Given the description of an element on the screen output the (x, y) to click on. 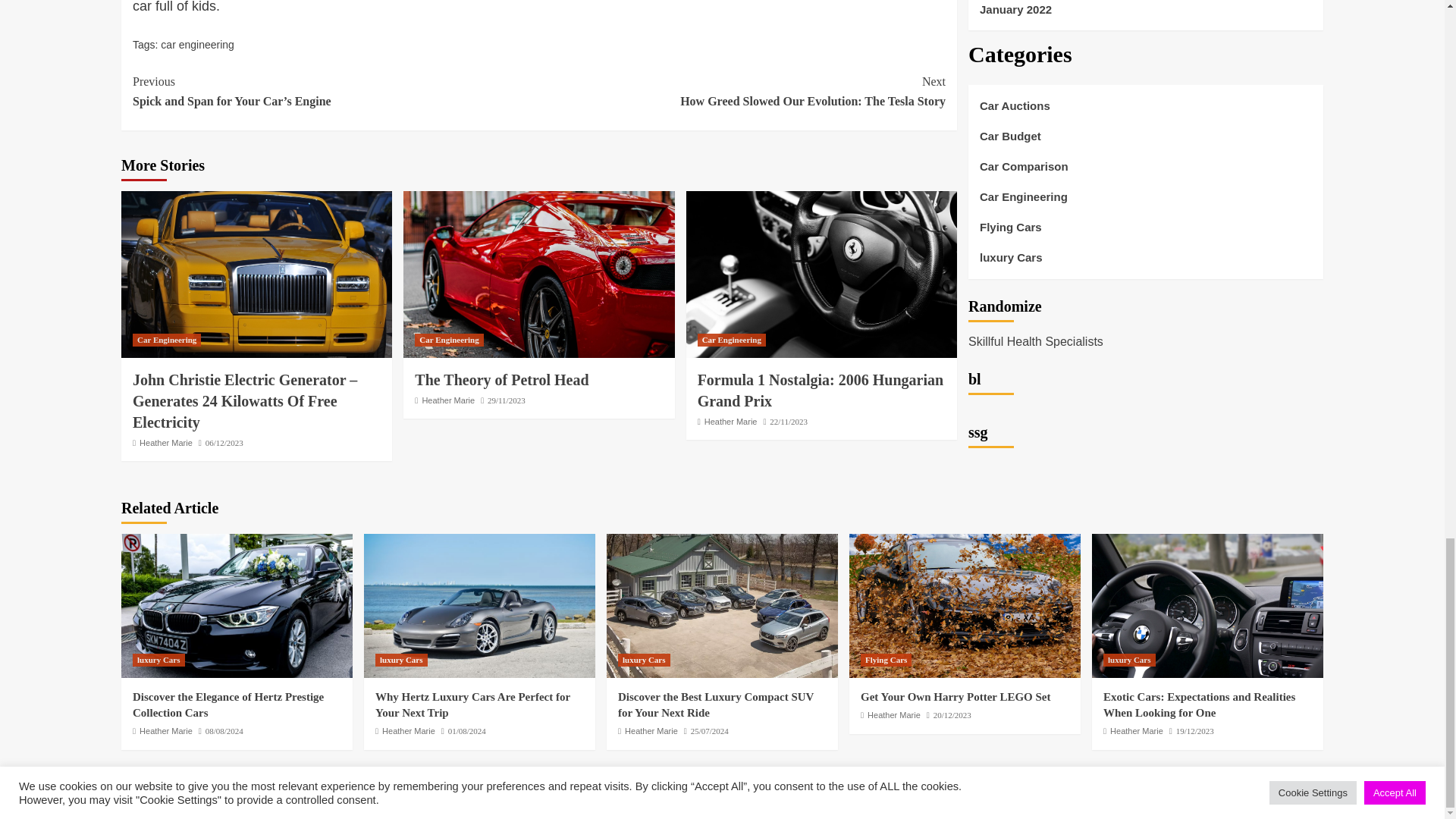
Formula 1 Nostalgia: 2006 Hungarian Grand Prix (820, 390)
Heather Marie (448, 399)
Discover the Best Luxury Compact SUV for Your Next Ride (722, 605)
Why Hertz Luxury Cars Are Perfect for Your Next Trip (479, 605)
Car Engineering (731, 339)
The Theory of Petrol Head (538, 273)
Heather Marie (165, 442)
car engineering (741, 91)
Car Engineering (197, 44)
